Given the description of an element on the screen output the (x, y) to click on. 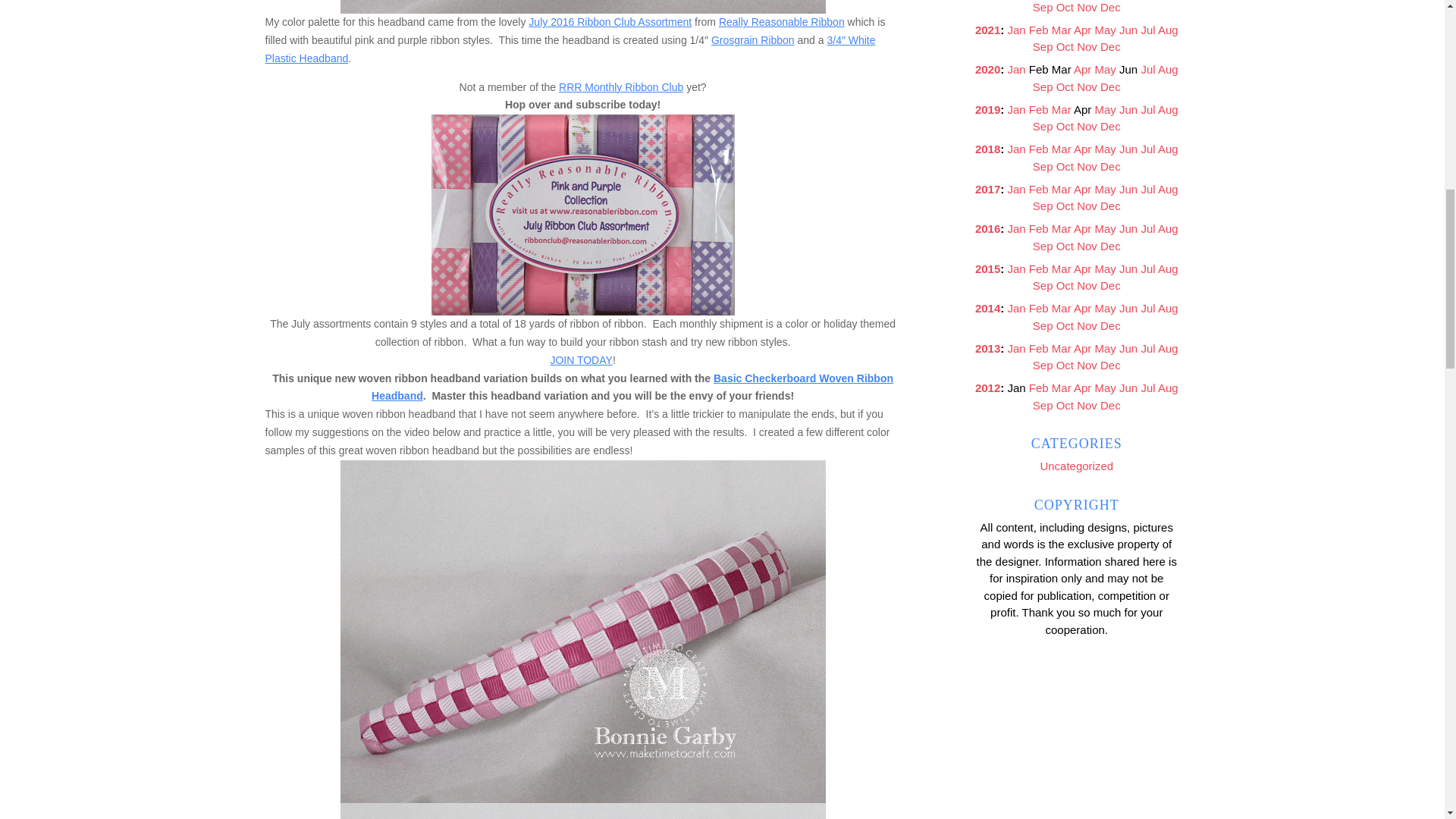
July 2016 Ribbon Club Assortment (609, 21)
JOIN TODAY (580, 359)
RRR Monthly Ribbon Club (620, 87)
Grosgrain Ribbon (752, 39)
Basic Checkerboard Woven Ribbon Headband (632, 387)
Really Reasonable Ribbon (781, 21)
